Given the description of an element on the screen output the (x, y) to click on. 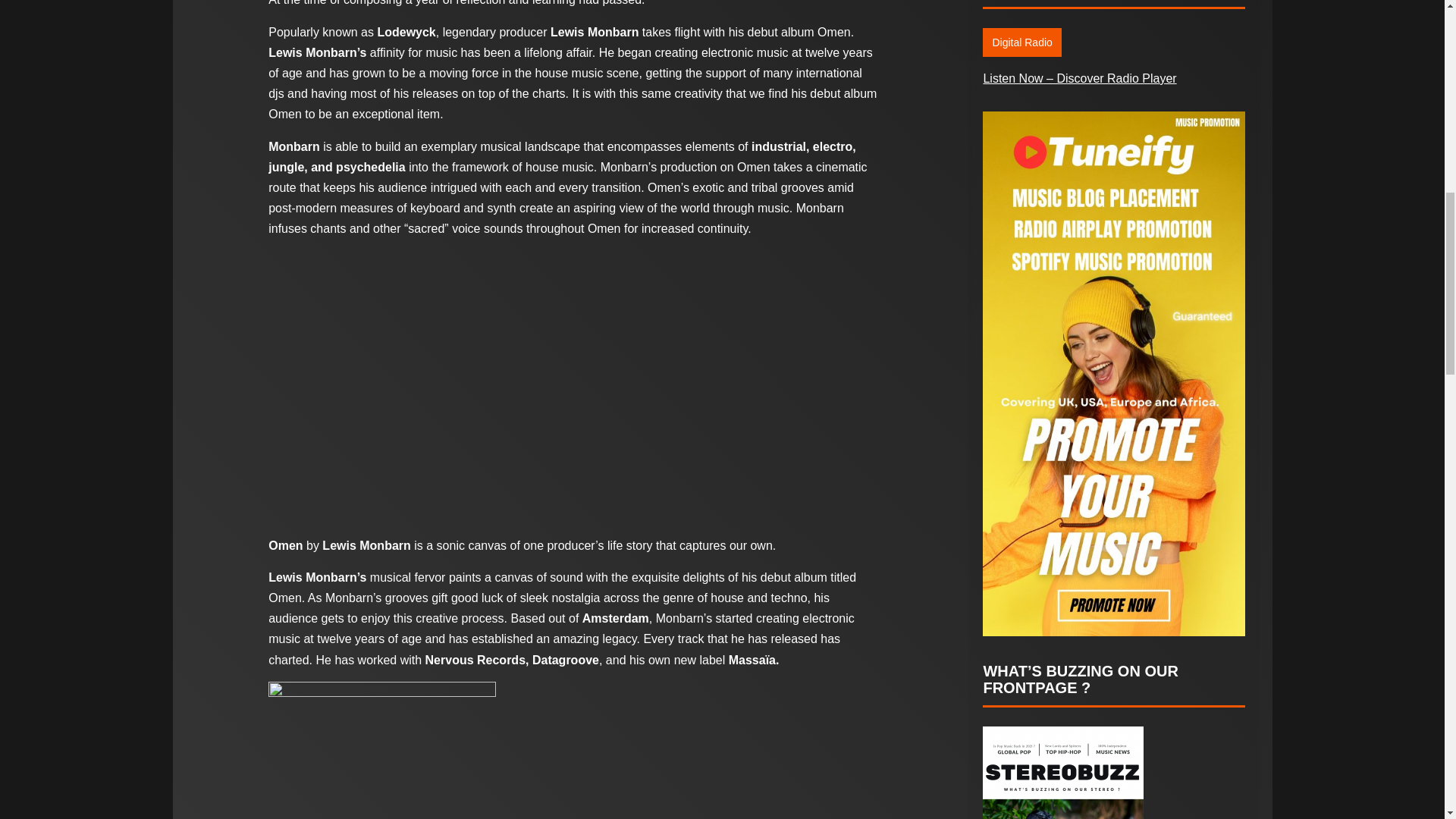
Digital Radio (1021, 41)
